Given the description of an element on the screen output the (x, y) to click on. 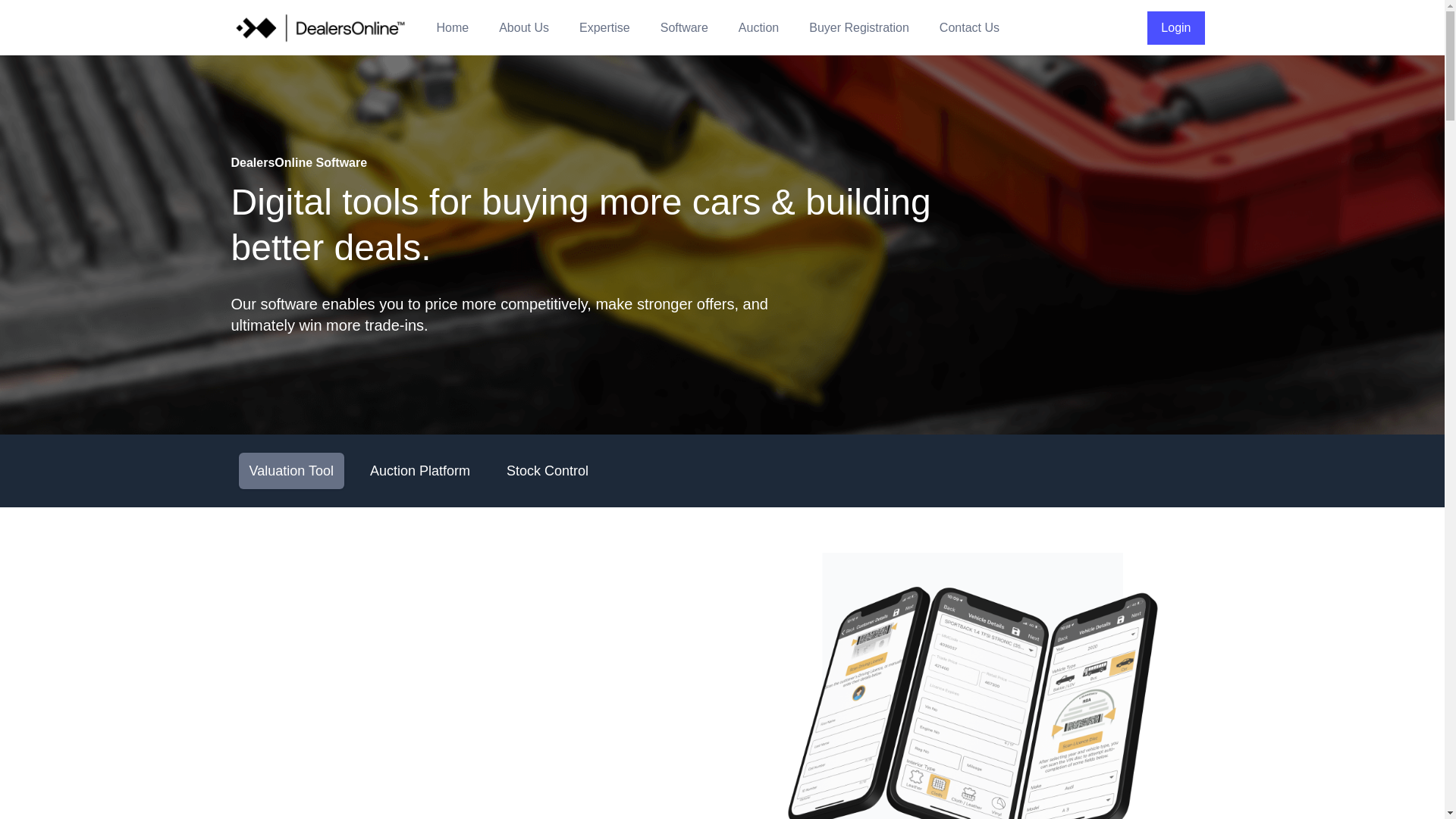
Expertise (604, 28)
Auction (758, 28)
Home (453, 28)
Buyer Registration (859, 28)
Contact Us (969, 28)
About Us (523, 28)
Auction Platform (419, 470)
Login (1175, 28)
Valuation Tool (290, 470)
Software (683, 28)
Stock Control (547, 470)
